Given the description of an element on the screen output the (x, y) to click on. 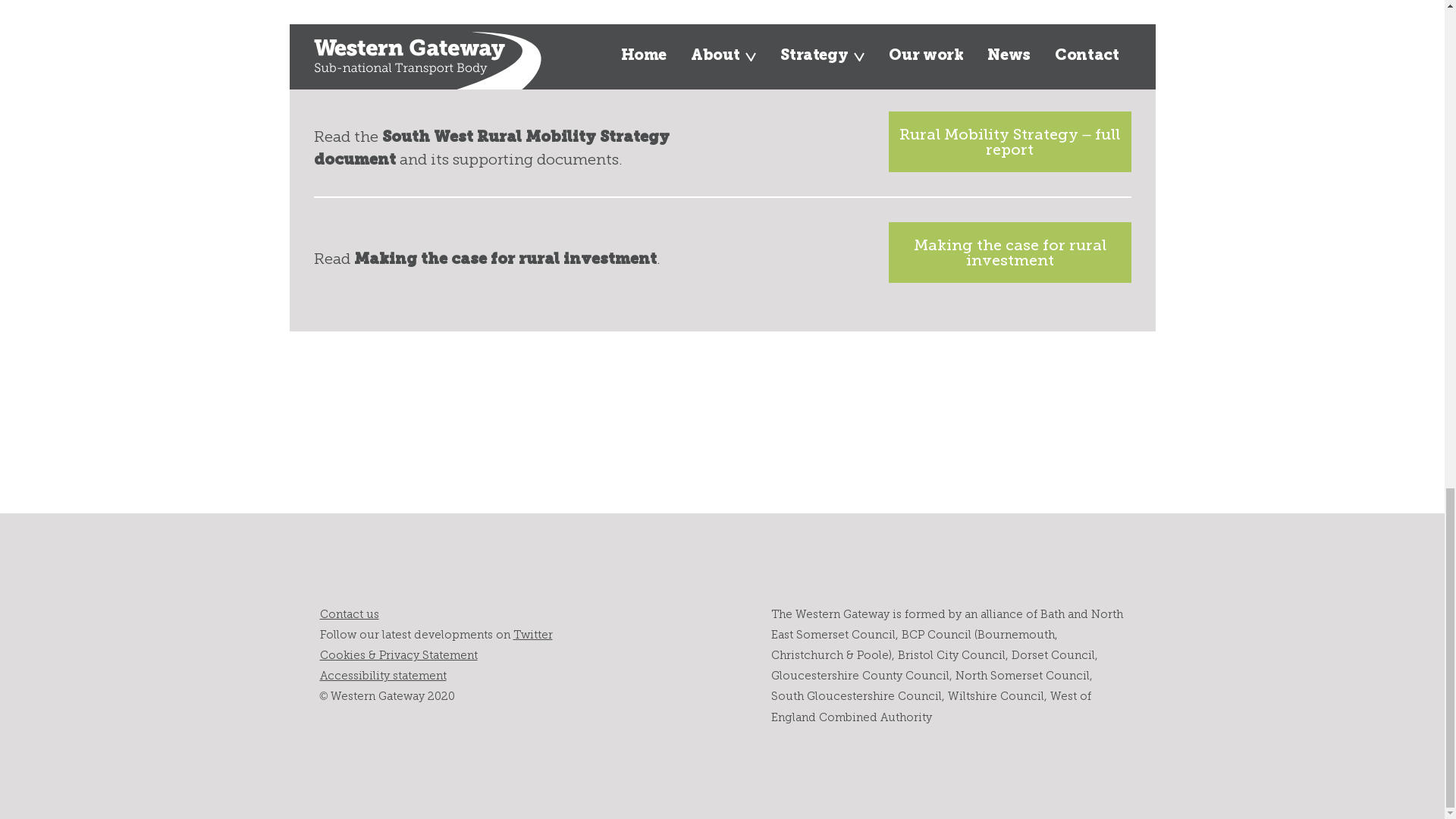
Making the case for rural investment (1009, 251)
Accessibility statement (383, 675)
Contact us (349, 613)
Twitter (531, 634)
